Given the description of an element on the screen output the (x, y) to click on. 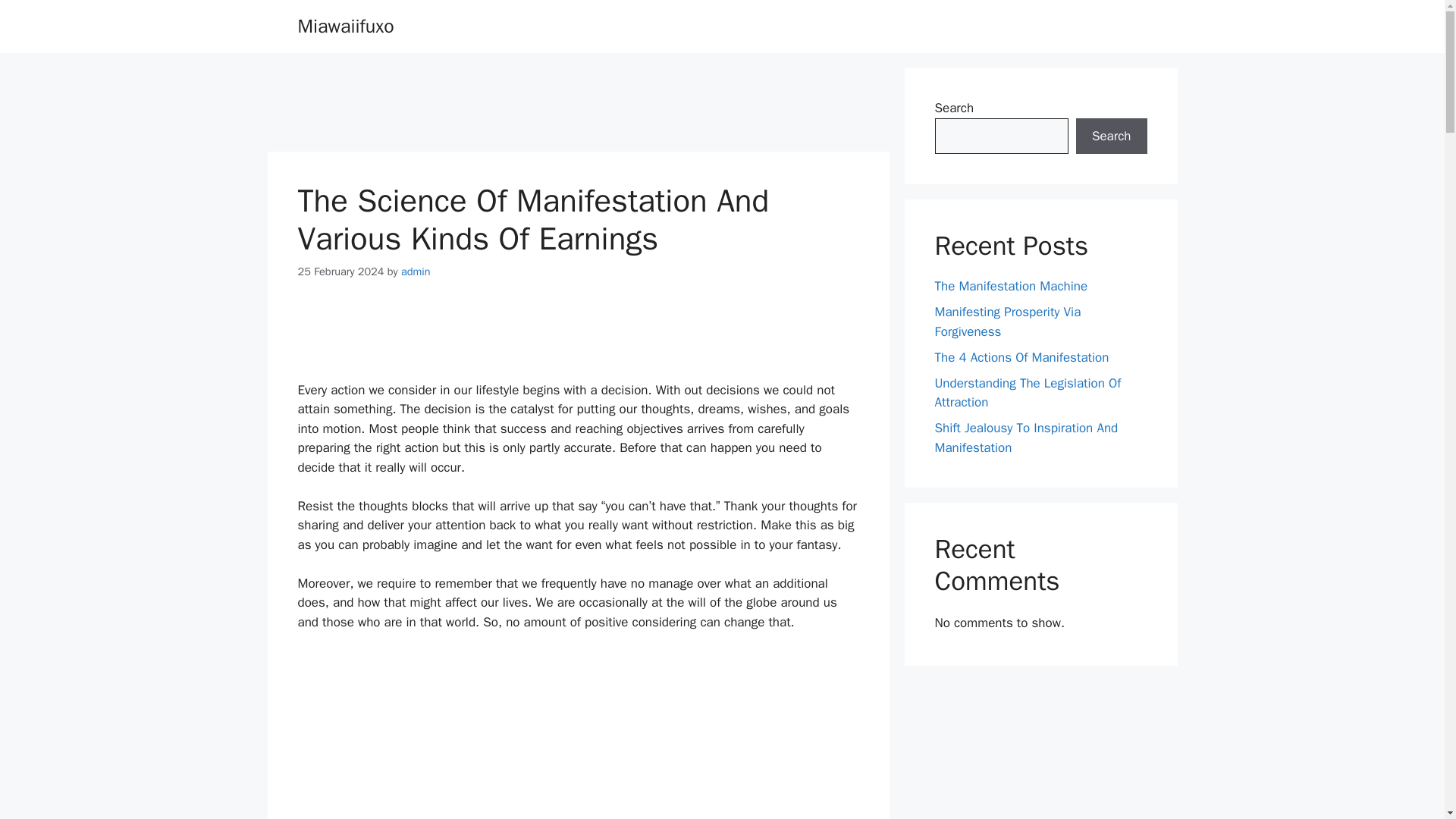
Advertisement (577, 340)
View all posts by admin (415, 271)
Advertisement (577, 101)
Miawaiifuxo (345, 25)
admin (415, 271)
